Given the description of an element on the screen output the (x, y) to click on. 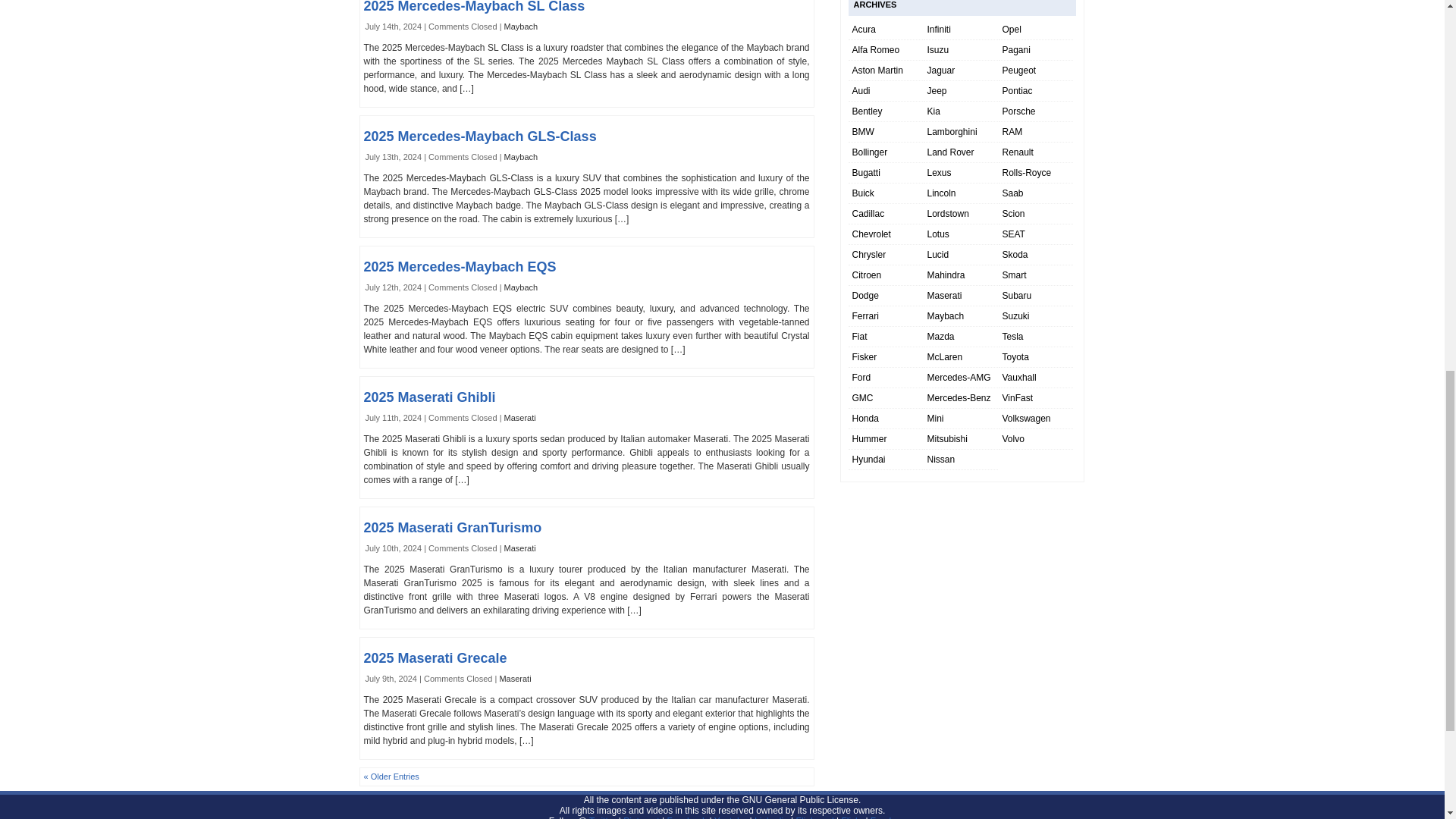
2025 Maserati GranTurismo (452, 527)
2025 Maserati GranTurismo (452, 527)
2025 Maserati Grecale (435, 657)
Maserati (515, 678)
Maserati (519, 417)
2025 Maserati Grecale (435, 657)
2025 Mercedes-Maybach GLS-Class (480, 136)
Chrysler (868, 254)
Bugatti (865, 172)
Acura (863, 29)
Aston Martin (876, 70)
Buick (863, 193)
Citroen (866, 275)
Chevrolet (871, 234)
2025 Mercedes-Maybach GLS-Class (480, 136)
